Given the description of an element on the screen output the (x, y) to click on. 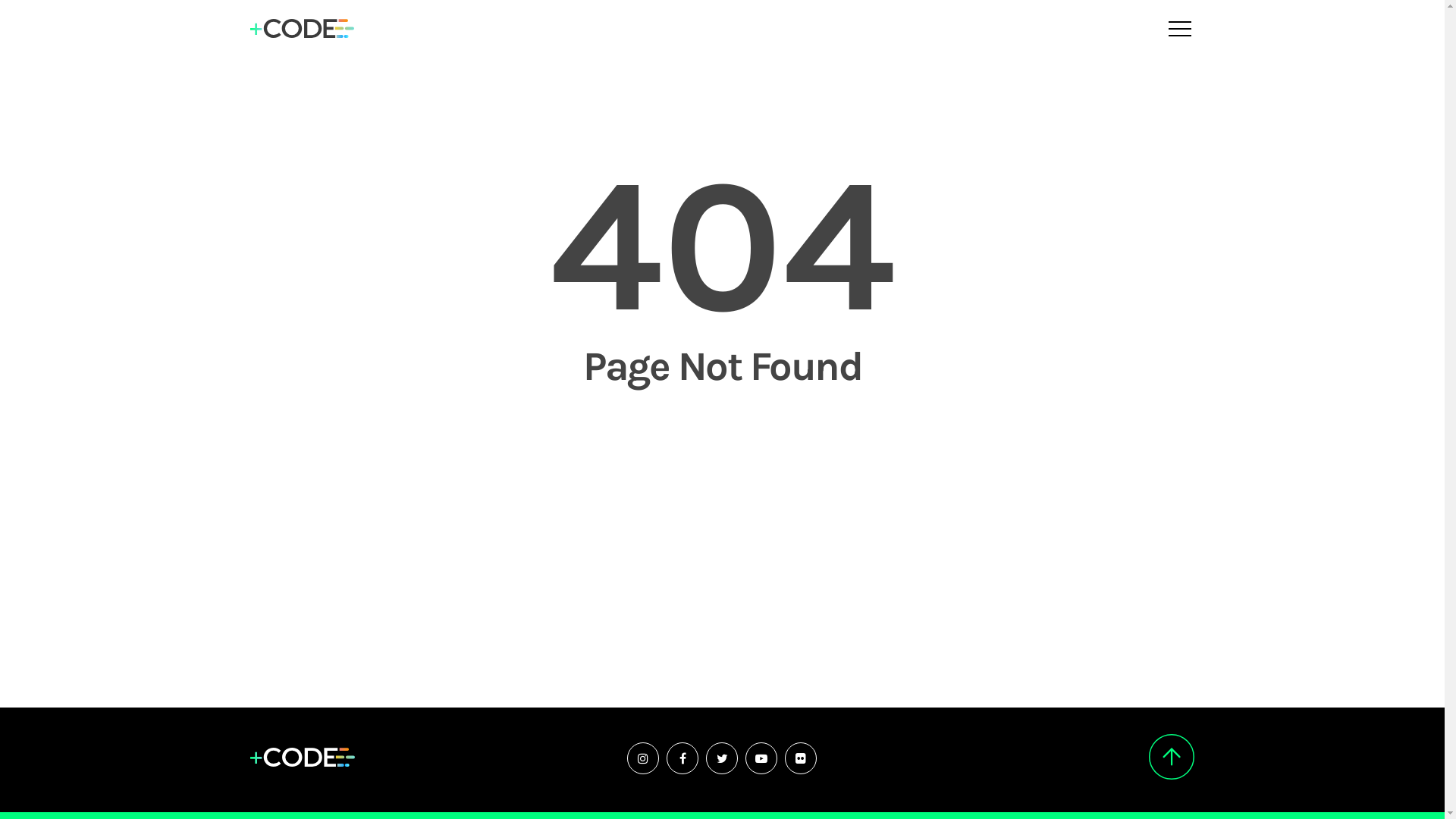
Back Home Element type: text (722, 448)
